Given the description of an element on the screen output the (x, y) to click on. 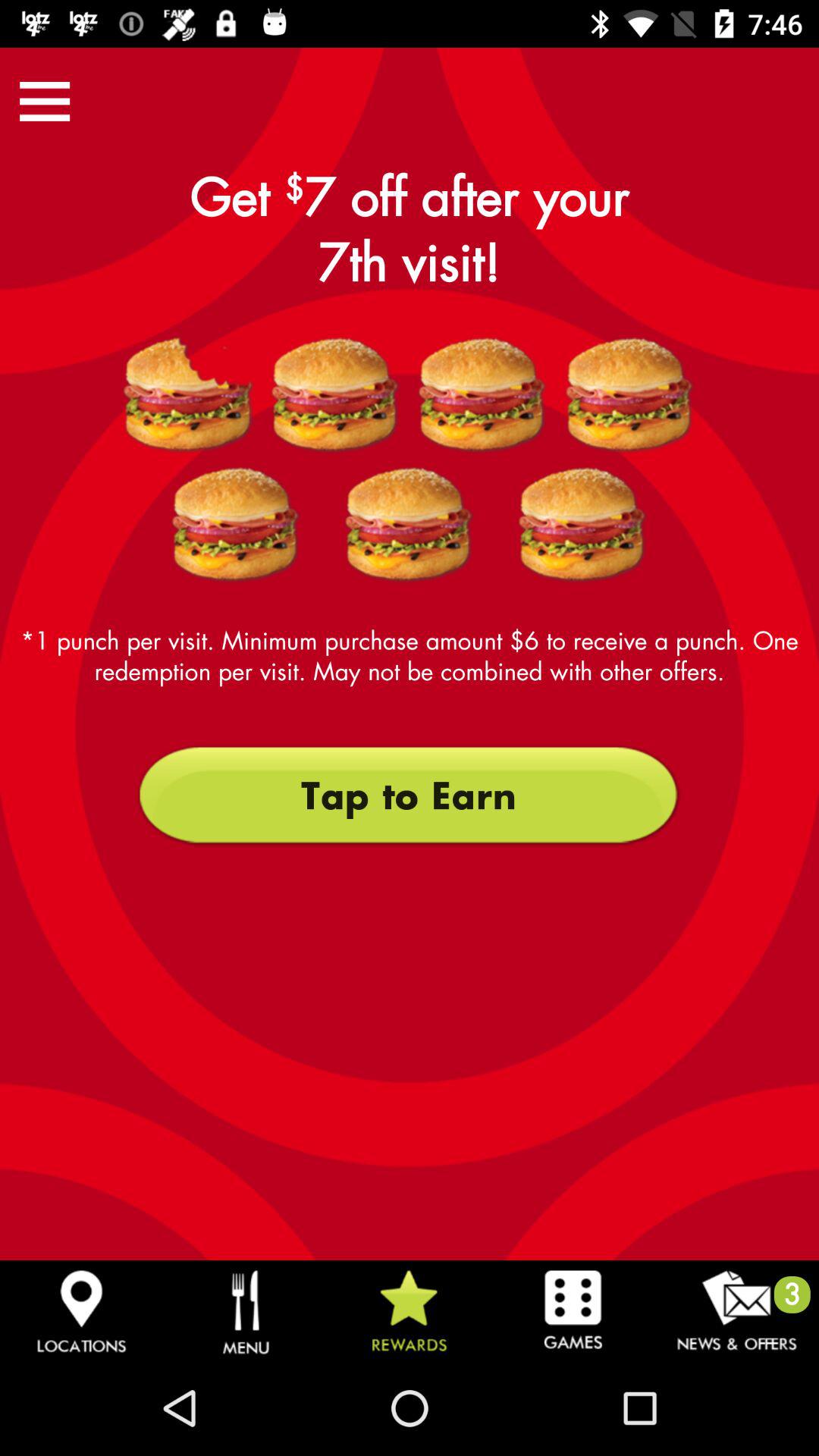
turn off item to the left of the get 7 off (44, 101)
